Given the description of an element on the screen output the (x, y) to click on. 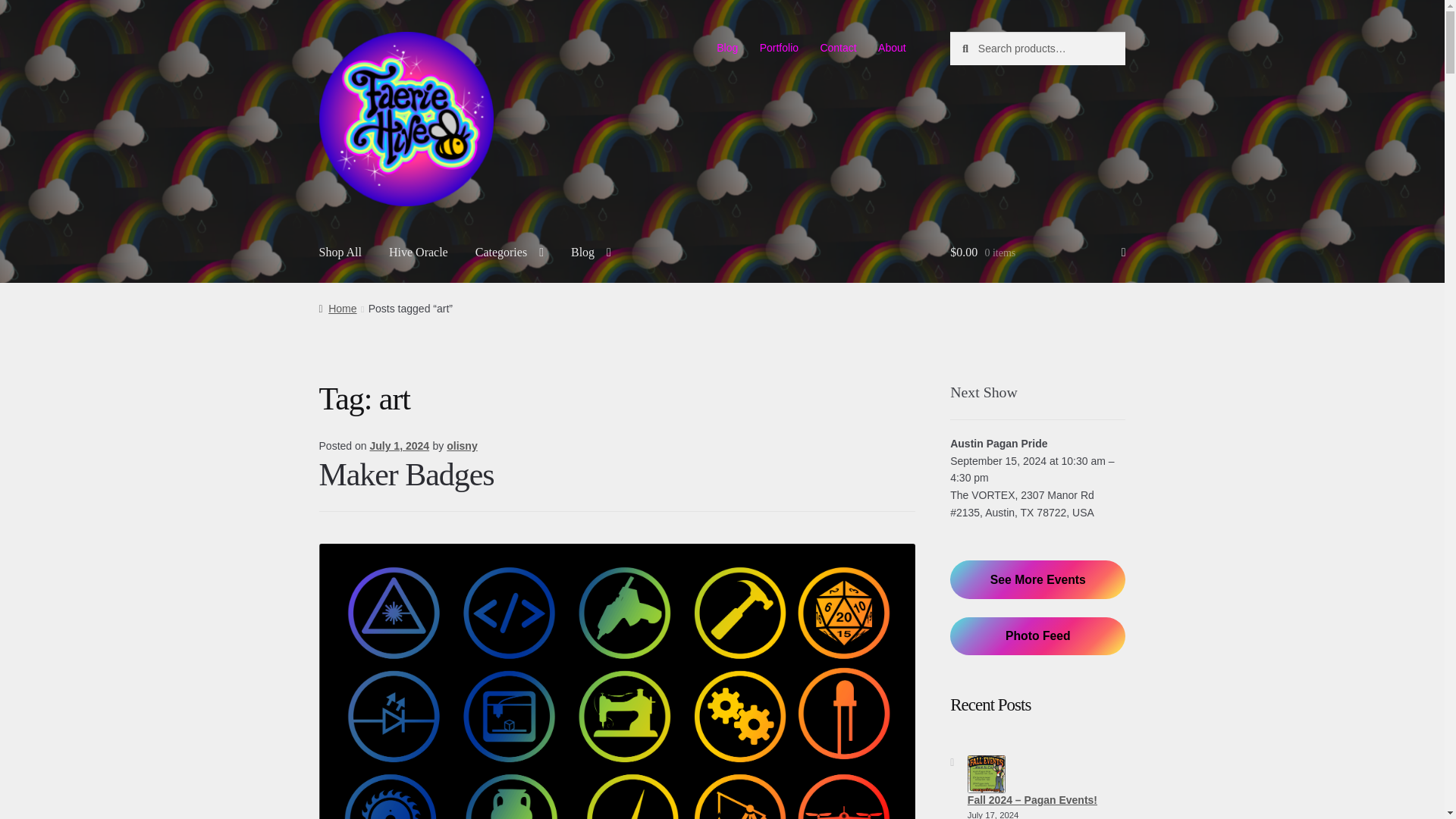
Blog (727, 47)
Categories (509, 252)
View your shopping cart (1037, 252)
About (892, 47)
Shop All (340, 252)
Portfolio (778, 47)
Contact (838, 47)
Hive Oracle (418, 252)
